Given the description of an element on the screen output the (x, y) to click on. 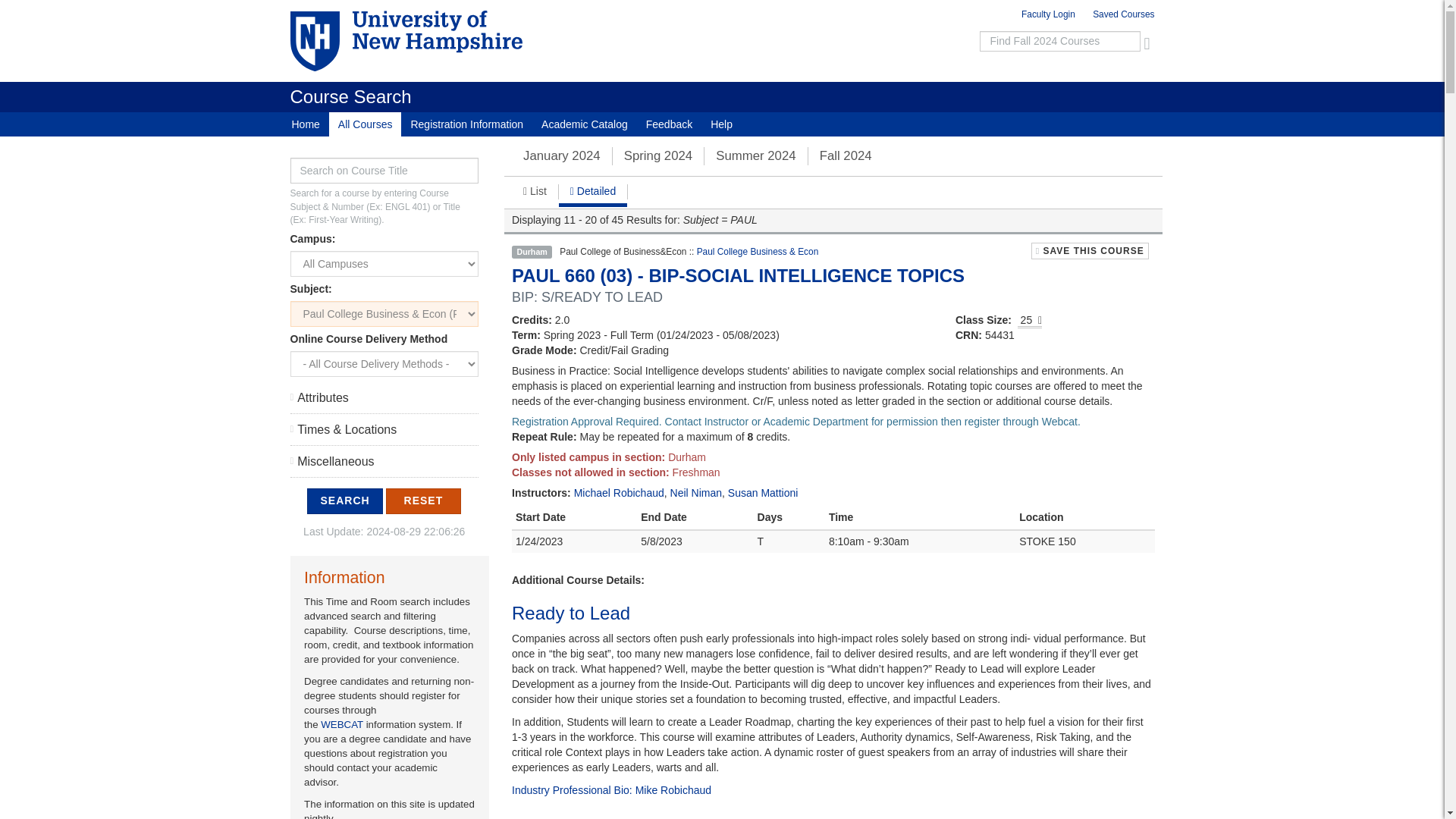
Course Search (349, 96)
Durham (531, 251)
Skip to main content (682, 4)
SAVE THIS COURSE (1089, 250)
Susan Mattioni (762, 492)
University of New Hampshire Homepage (425, 40)
Saved Courses (1120, 16)
All Courses (365, 124)
Summer 2024 (755, 155)
Michael Robichaud (618, 492)
